Given the description of an element on the screen output the (x, y) to click on. 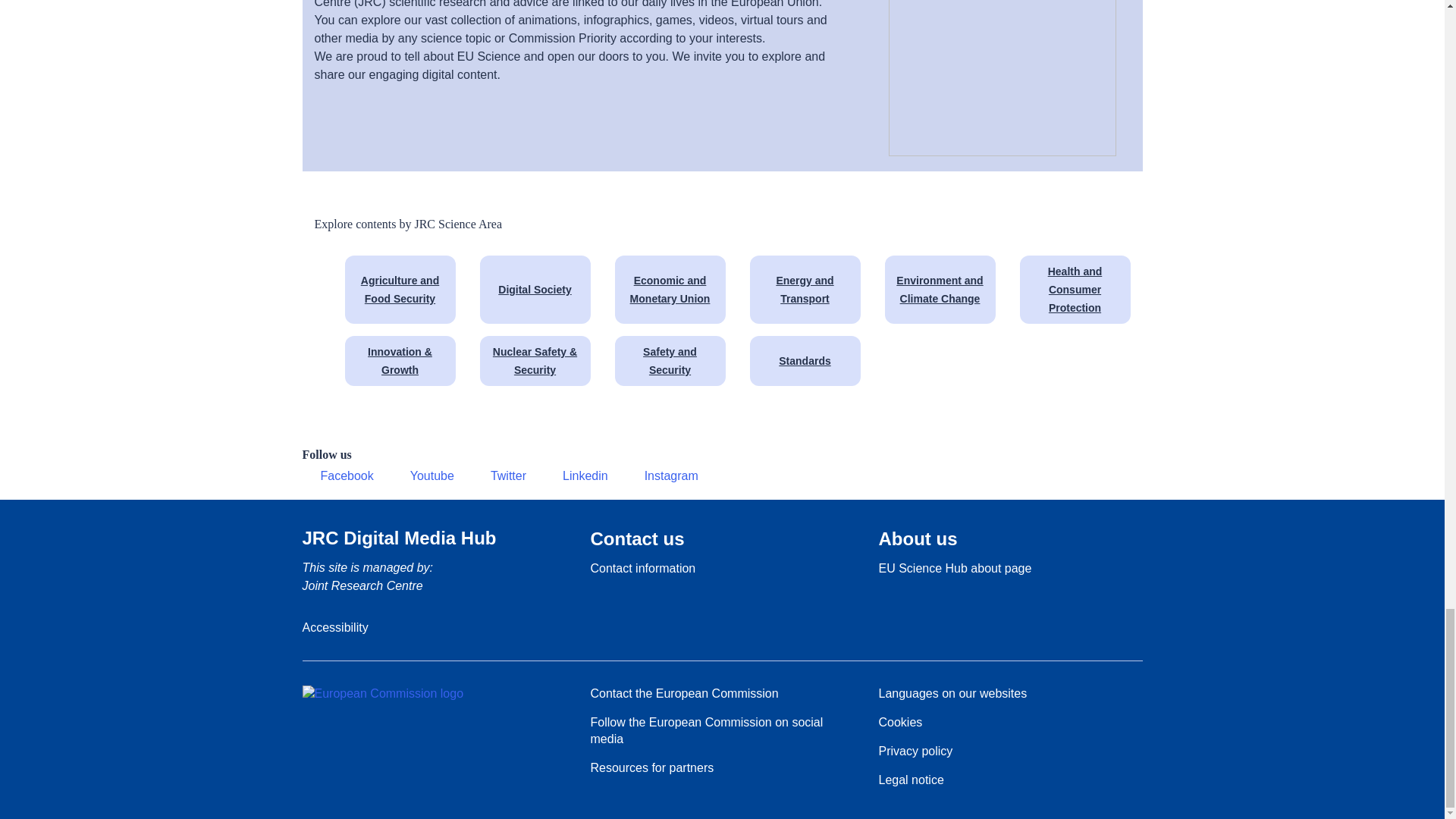
European Commission (382, 693)
